Given the description of an element on the screen output the (x, y) to click on. 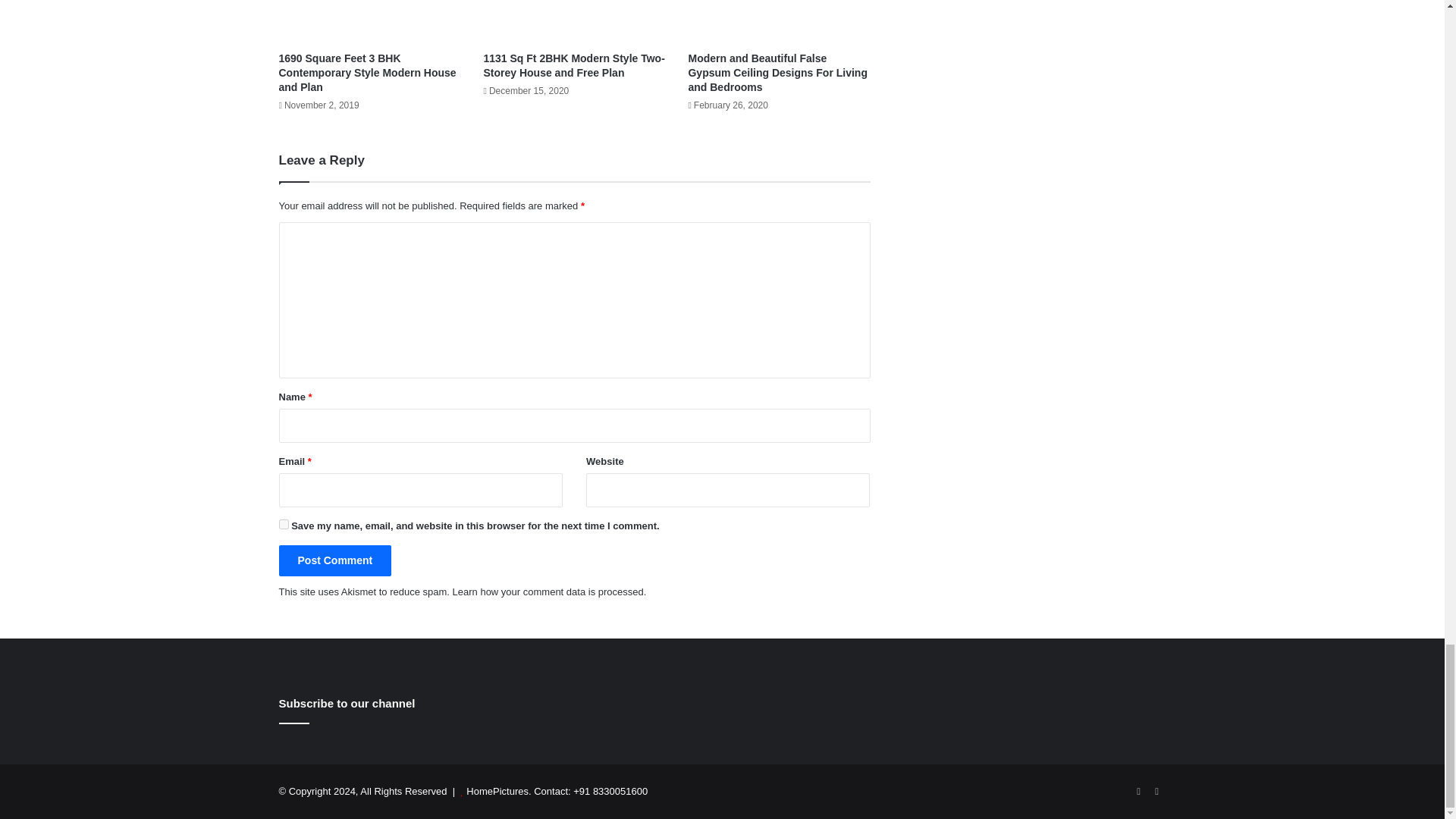
Post Comment (335, 560)
yes (283, 524)
